Given the description of an element on the screen output the (x, y) to click on. 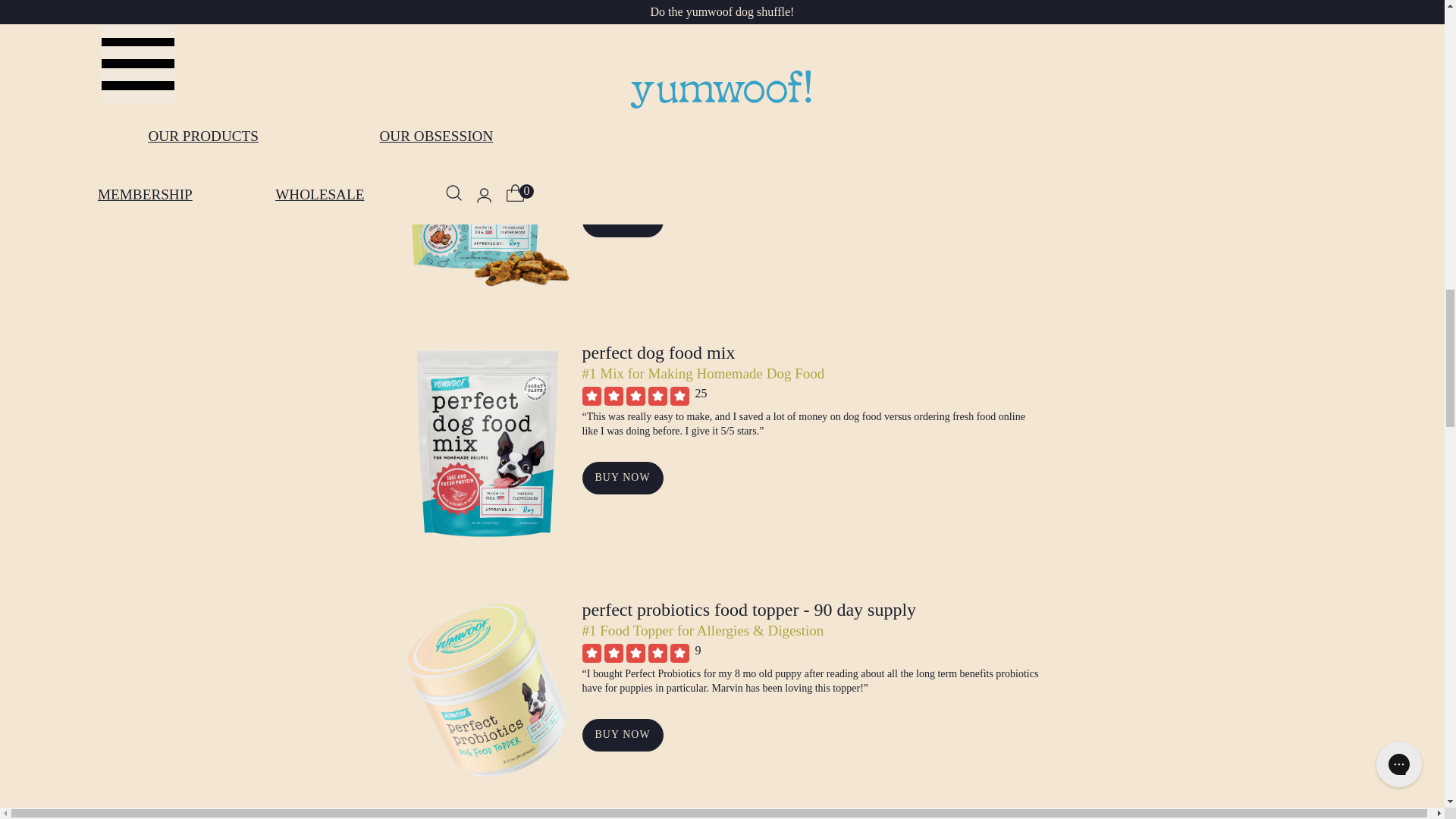
BUY NOW (622, 220)
